Given the description of an element on the screen output the (x, y) to click on. 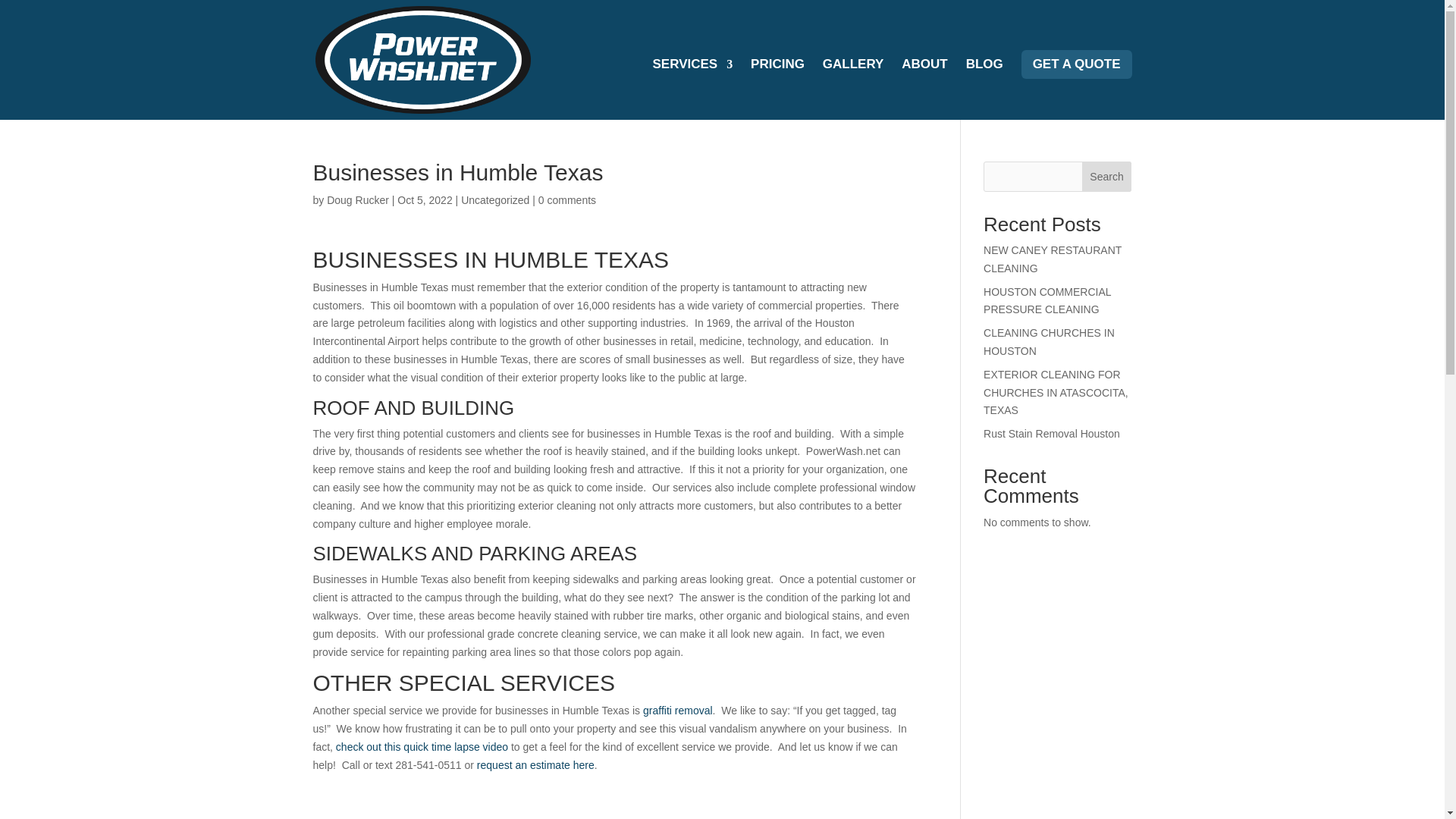
SERVICES (692, 88)
graffiti removal (678, 710)
request an estimate here (535, 765)
Doug Rucker (357, 200)
0 comments (566, 200)
Search (1106, 176)
GET A QUOTE (1077, 63)
GALLERY (852, 88)
check out this quick time lapse video (422, 746)
Posts by Doug Rucker (357, 200)
Uncategorized (495, 200)
